Given the description of an element on the screen output the (x, y) to click on. 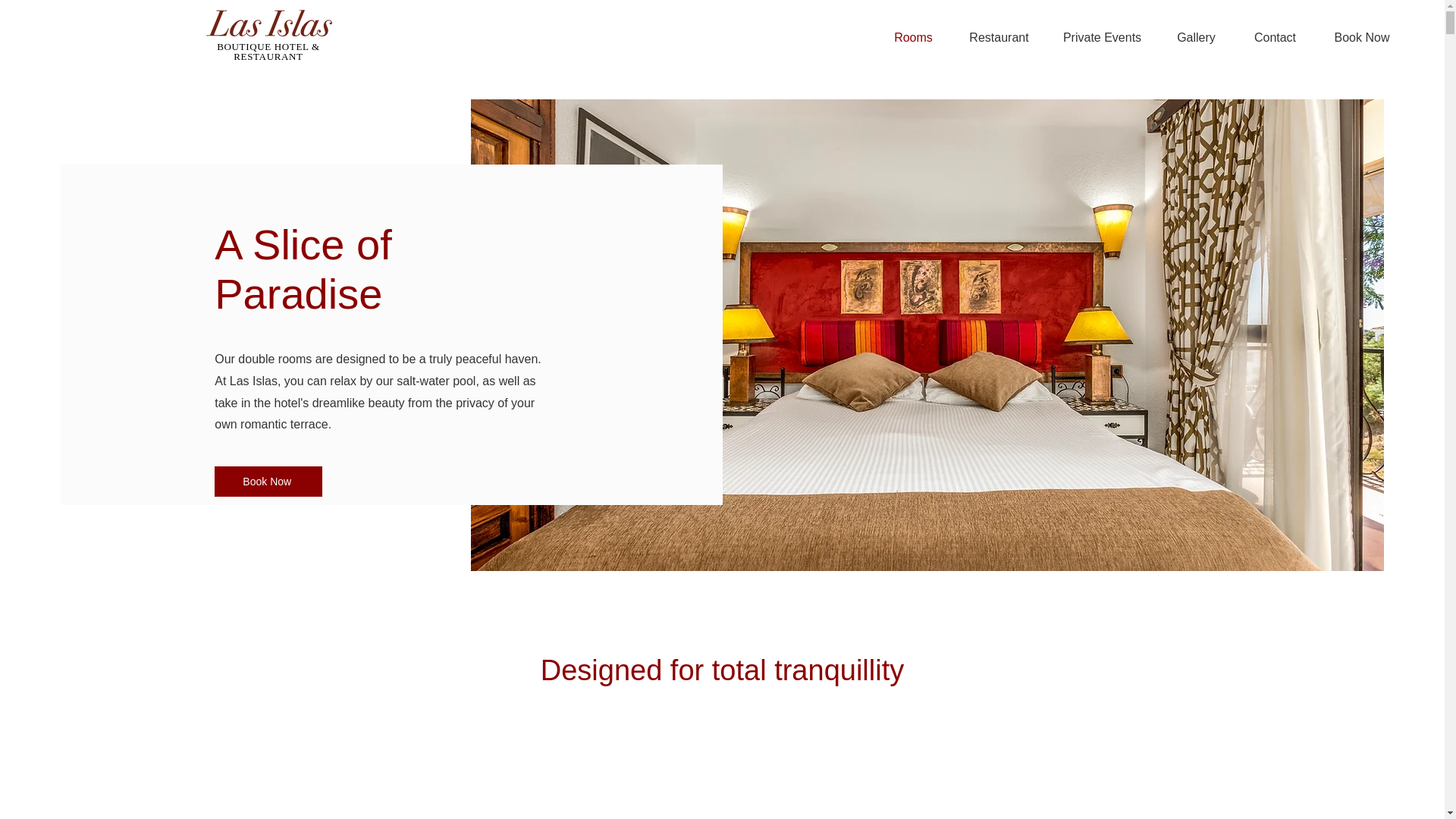
Rooms (913, 37)
Book Now (267, 481)
Contact (1275, 37)
Book Now (1361, 37)
Restaurant (999, 37)
Gallery (1195, 37)
Private Events (1101, 37)
